Given the description of an element on the screen output the (x, y) to click on. 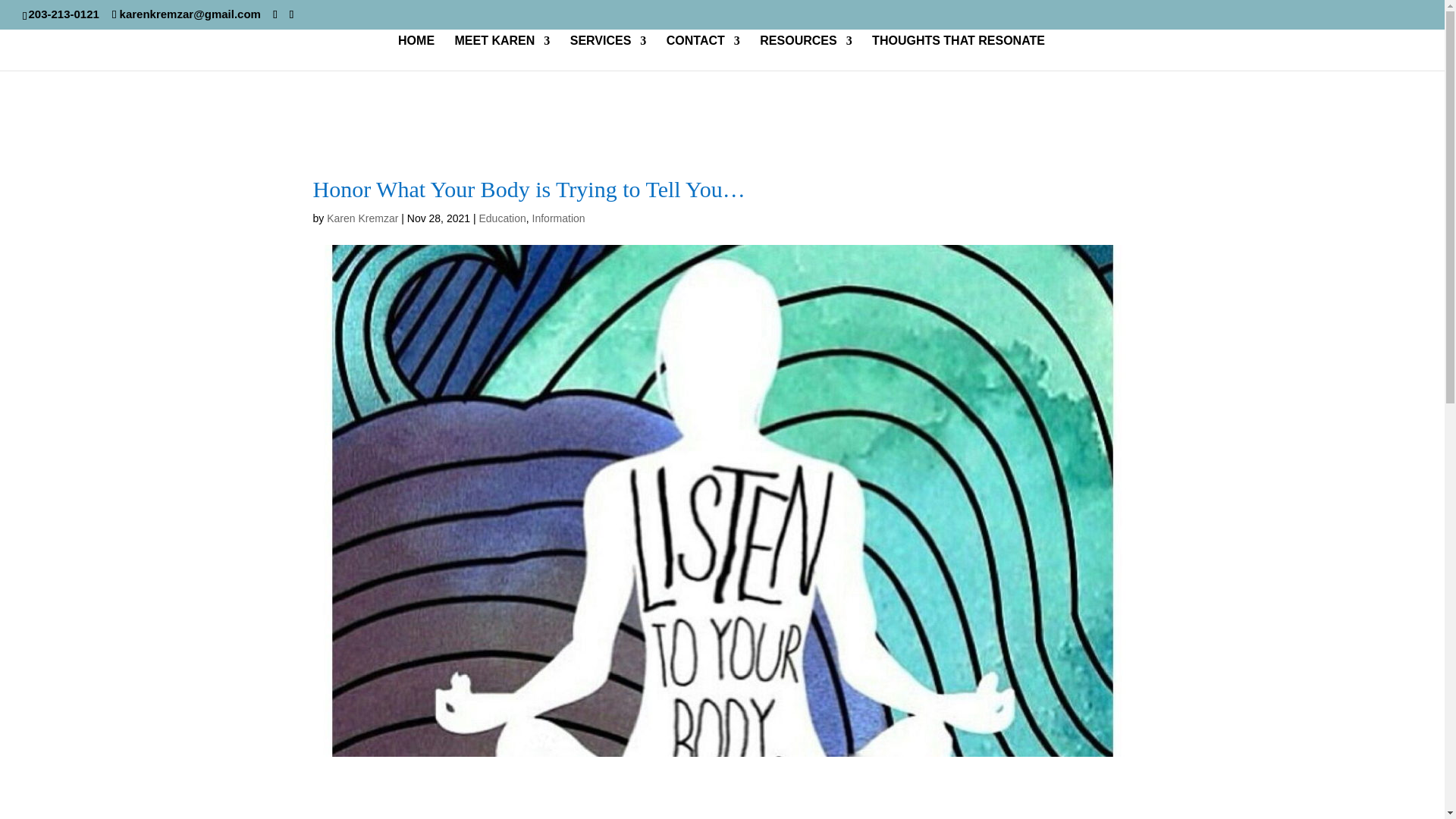
HOME (415, 53)
SERVICES (608, 53)
Information (558, 218)
CONTACT (702, 53)
MEET KAREN (502, 53)
Karen Kremzar (361, 218)
Education (502, 218)
RESOURCES (805, 53)
THOUGHTS THAT RESONATE (958, 53)
Posts by Karen Kremzar (361, 218)
